Given the description of an element on the screen output the (x, y) to click on. 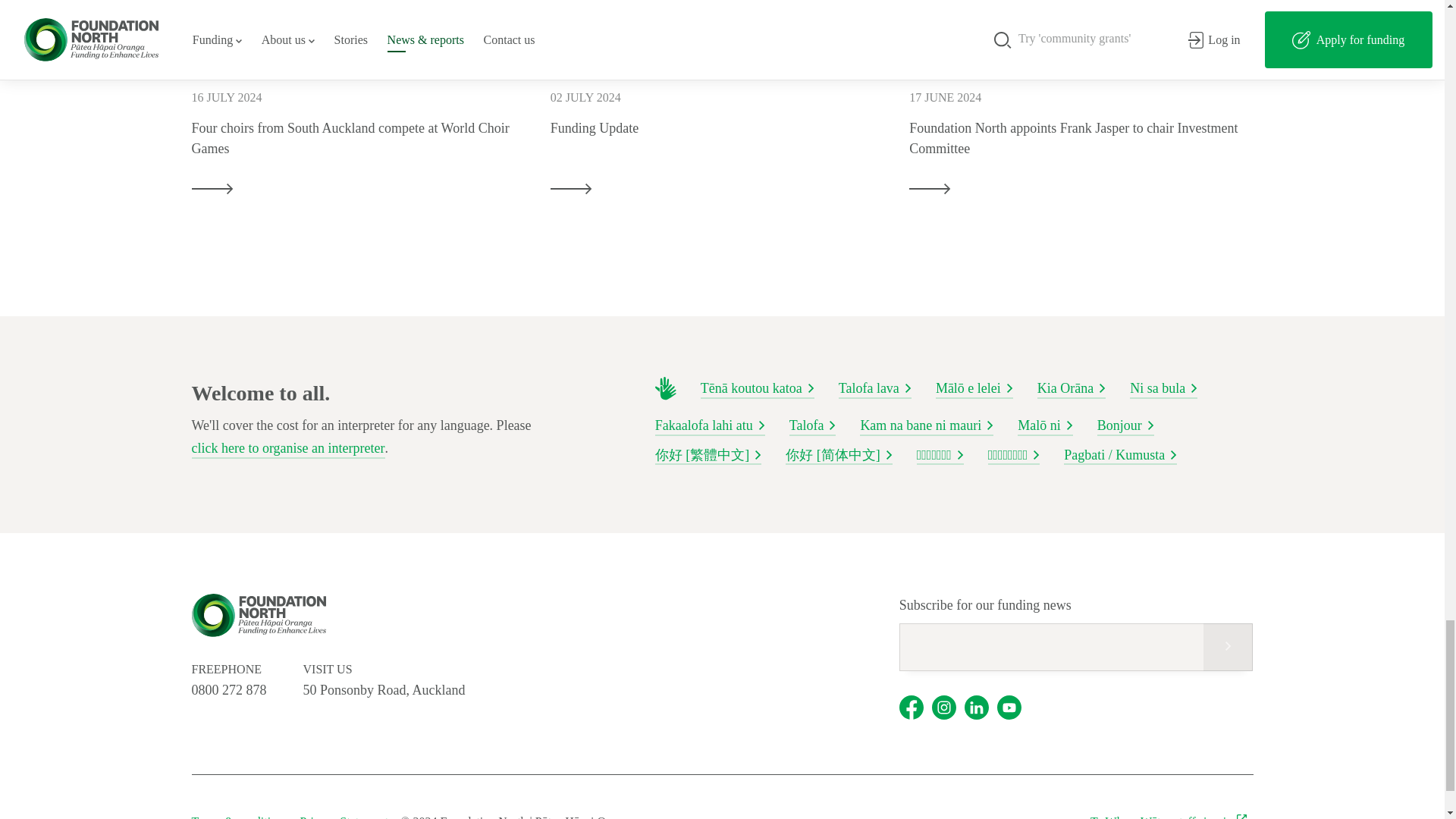
New Zealand Sign Language welcome video (666, 388)
